Given the description of an element on the screen output the (x, y) to click on. 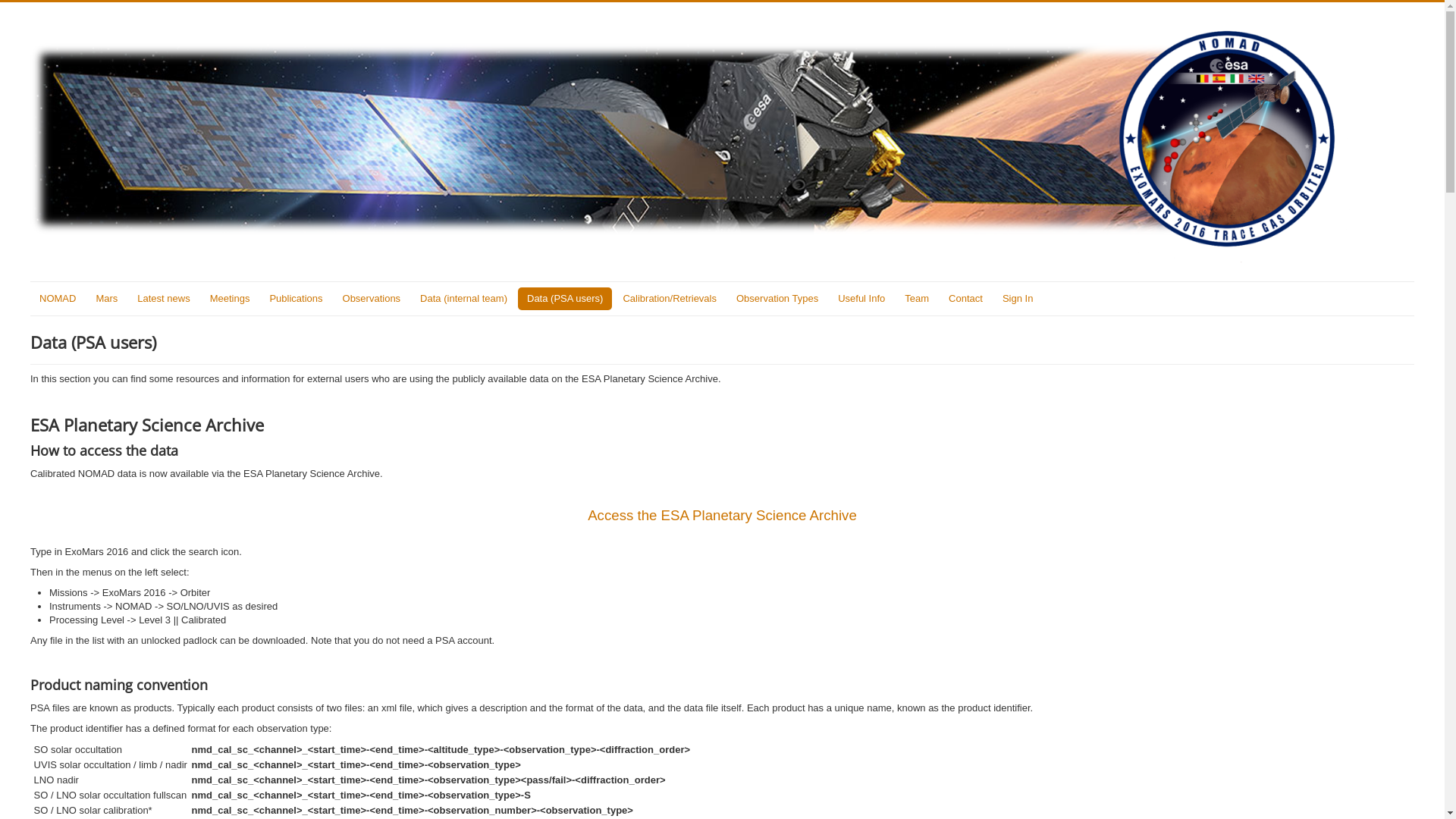
Contact Element type: text (965, 298)
NOMAD Element type: text (57, 298)
Team Element type: text (916, 298)
Latest news Element type: text (163, 298)
Meetings Element type: text (229, 298)
Data (internal team) Element type: text (463, 298)
Useful Info Element type: text (861, 298)
Calibration/Retrievals Element type: text (669, 298)
Observations Element type: text (371, 298)
Sign In Element type: text (1017, 298)
Access the ESA Planetary Science Archive Element type: text (721, 515)
Observation Types Element type: text (777, 298)
Publications Element type: text (295, 298)
Data (PSA users) Element type: text (564, 298)
Mars Element type: text (106, 298)
